Given the description of an element on the screen output the (x, y) to click on. 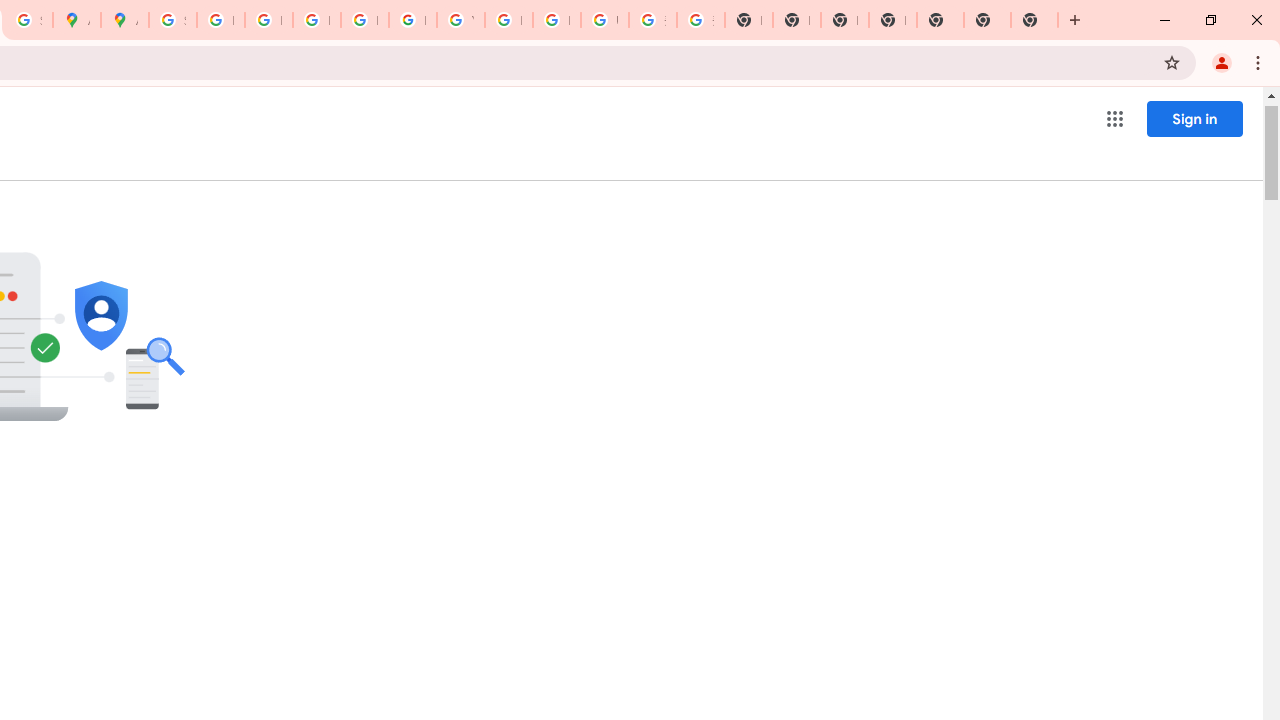
Privacy Help Center - Policies Help (268, 20)
New Tab (987, 20)
Privacy Help Center - Policies Help (316, 20)
Browse Chrome as a guest - Computer - Google Chrome Help (508, 20)
